Given the description of an element on the screen output the (x, y) to click on. 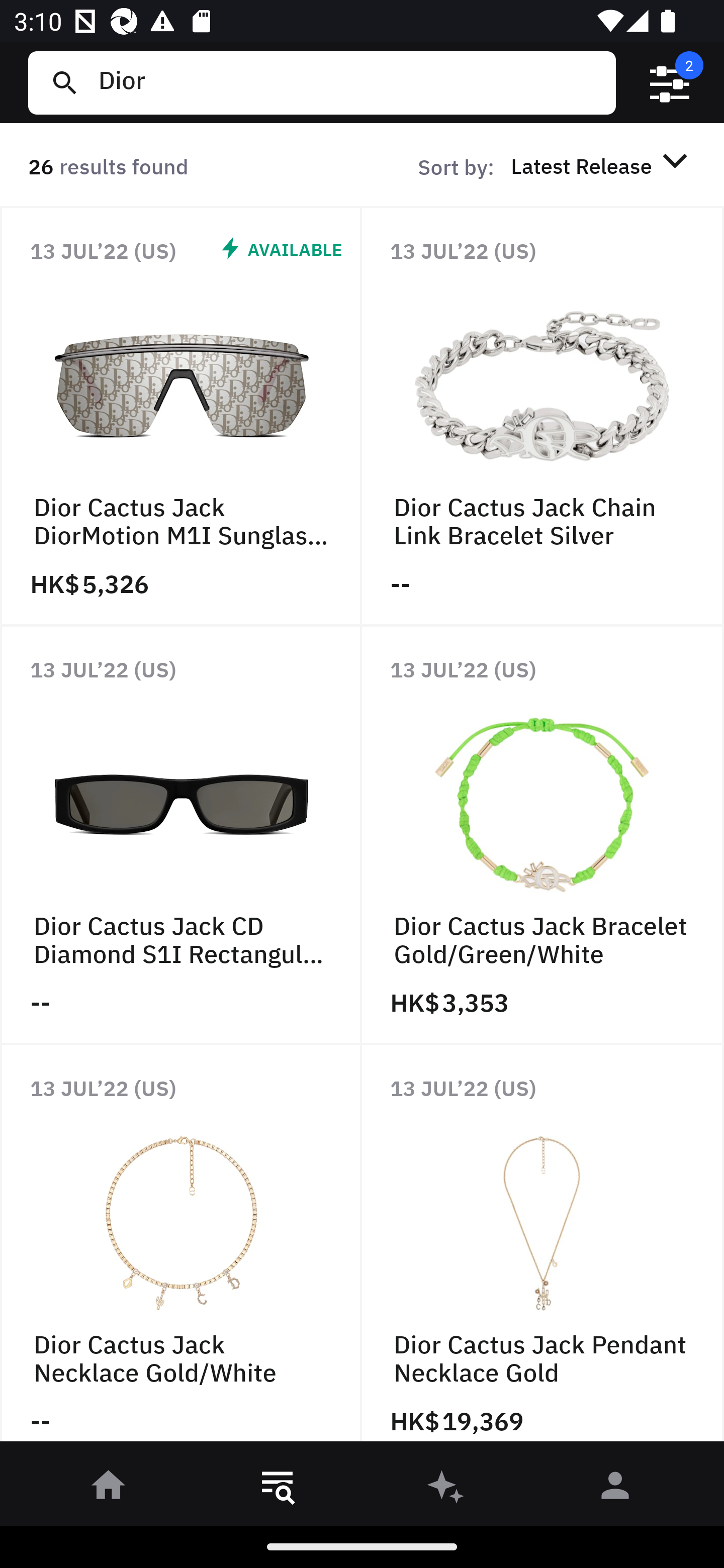
Dior (349, 82)
 (669, 82)
Latest Release  (602, 165)
󰋜 (108, 1488)
󱎸 (277, 1488)
󰫢 (446, 1488)
󰀄 (615, 1488)
